Given the description of an element on the screen output the (x, y) to click on. 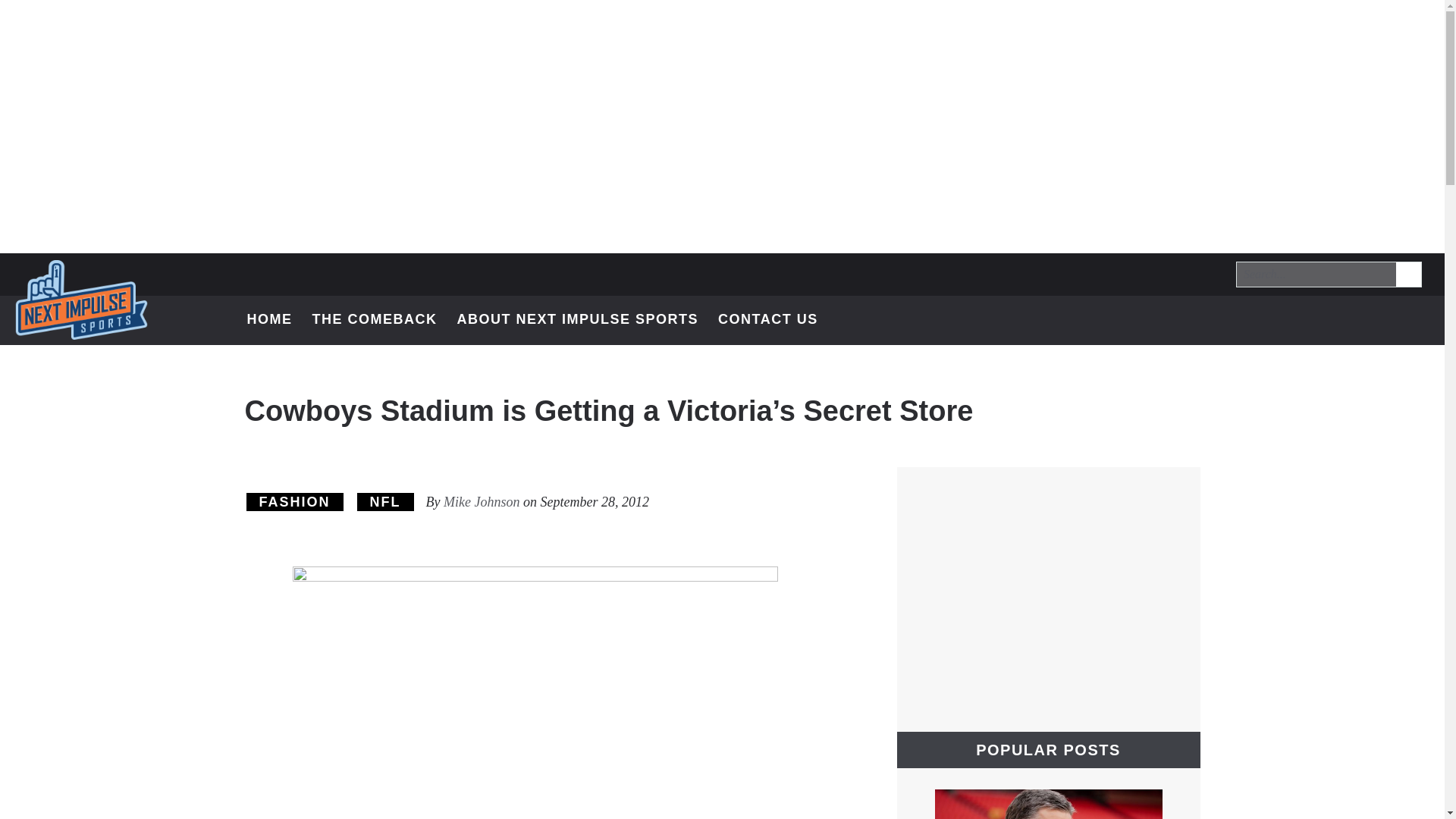
HOME (269, 319)
Link to Twitter (1336, 319)
ABOUT NEXT IMPULSE SPORTS (576, 319)
SEARCH (1407, 273)
Mike Johnson (481, 501)
NFL (384, 502)
View all posts in Fashion (294, 502)
CONTACT US (775, 319)
Link to RSS (1414, 319)
